Given the description of an element on the screen output the (x, y) to click on. 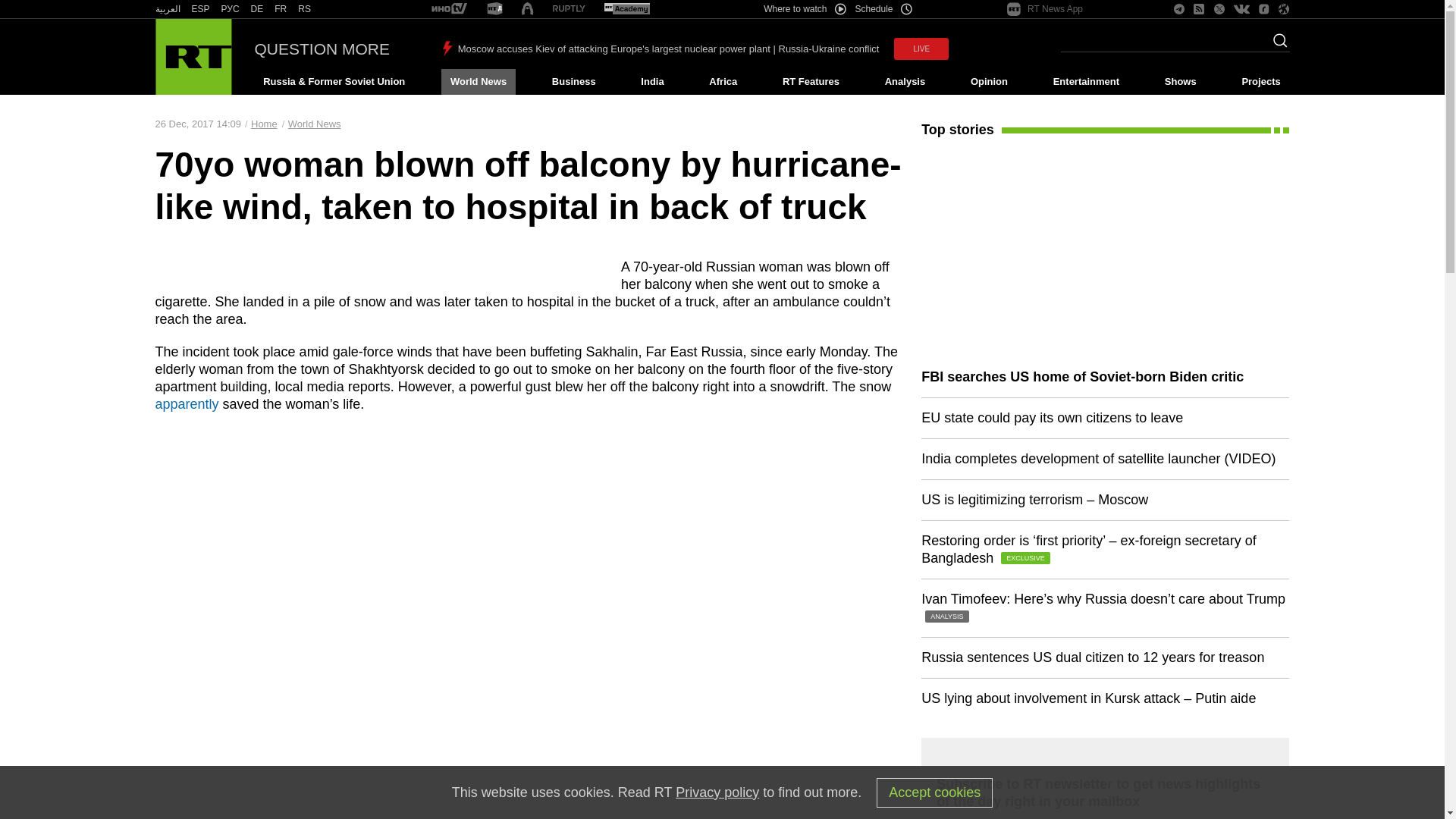
DE (256, 9)
Search (1276, 44)
Shows (1180, 81)
QUESTION MORE (322, 48)
Opinion (988, 81)
RT  (166, 9)
Where to watch (803, 9)
India (651, 81)
RT News App (1045, 9)
Search (1276, 44)
